Given the description of an element on the screen output the (x, y) to click on. 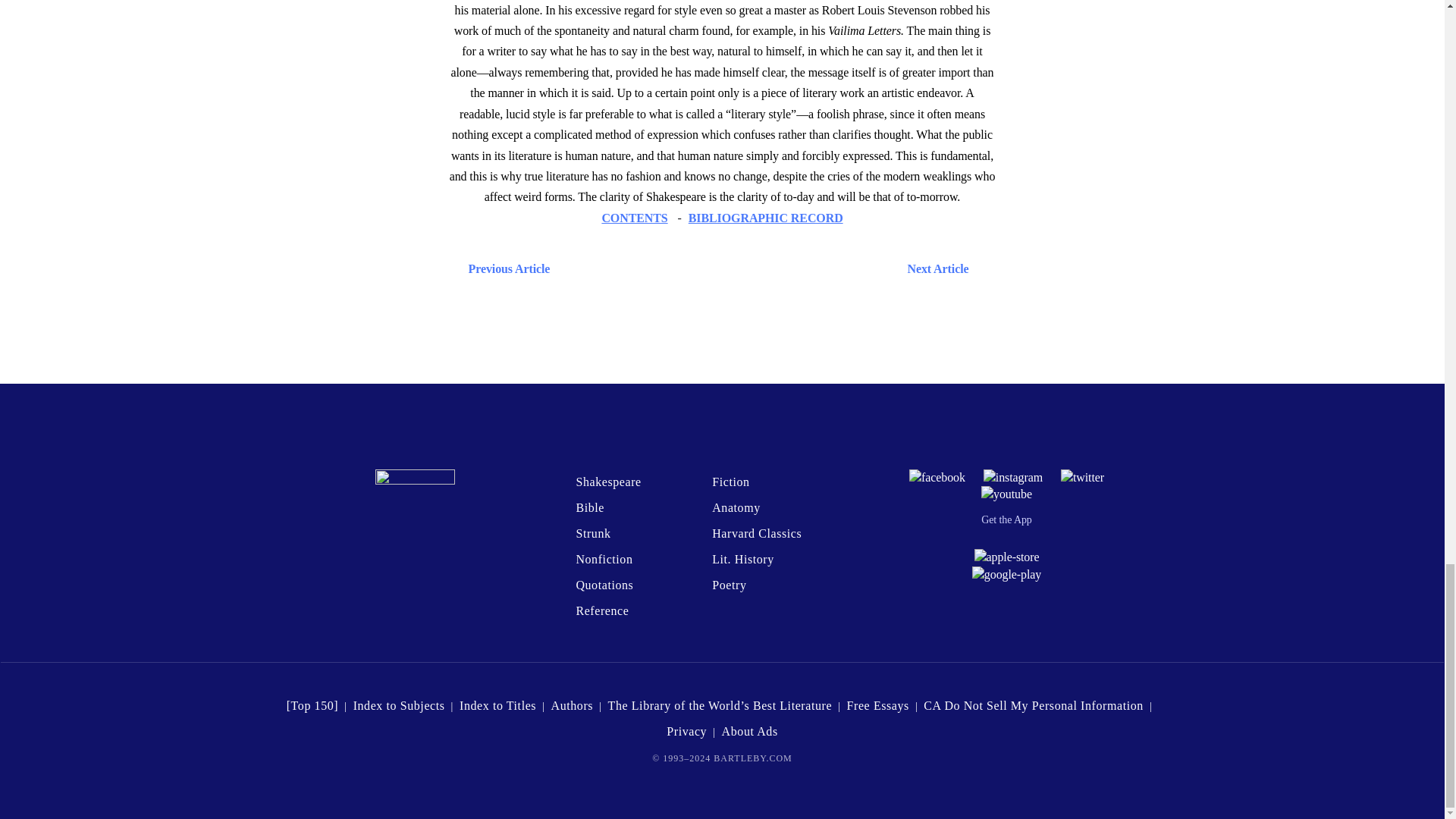
Anatomy (735, 507)
Quotations (604, 584)
Strunk (592, 533)
Nonfiction (603, 558)
CONTENTS (633, 217)
Poetry (728, 584)
Bible (589, 507)
Shakespeare (607, 481)
Reference (601, 610)
Previous Article (505, 268)
Lit. History (742, 558)
Harvard Classics (756, 533)
Next Article (766, 268)
BIBLIOGRAPHIC RECORD (765, 217)
Fiction (730, 481)
